Given the description of an element on the screen output the (x, y) to click on. 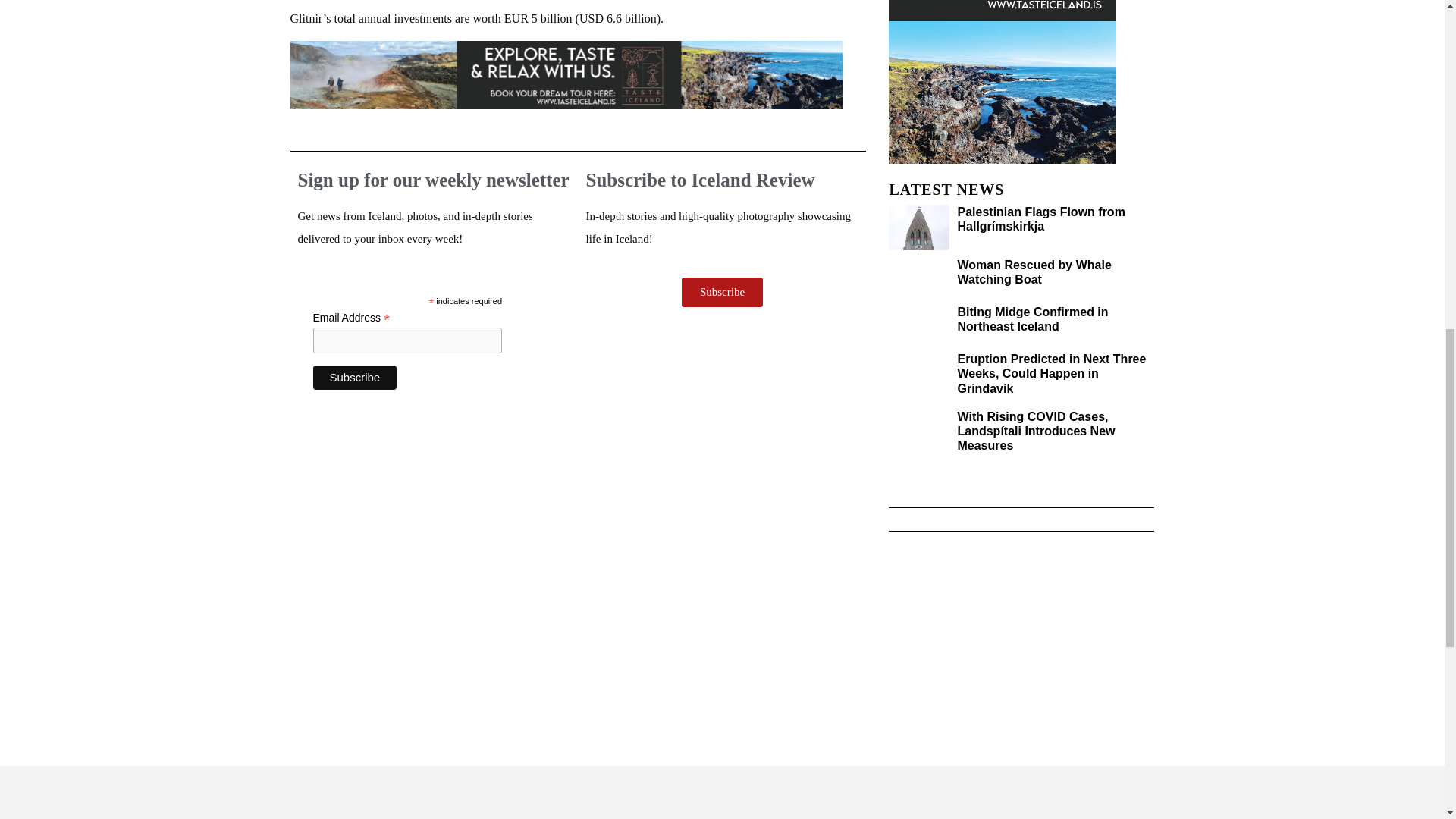
Biting Midge Confirmed in Northeast Iceland (1032, 318)
Woman Rescued by Whale Watching Boat (1033, 271)
Subscribe (354, 377)
